Given the description of an element on the screen output the (x, y) to click on. 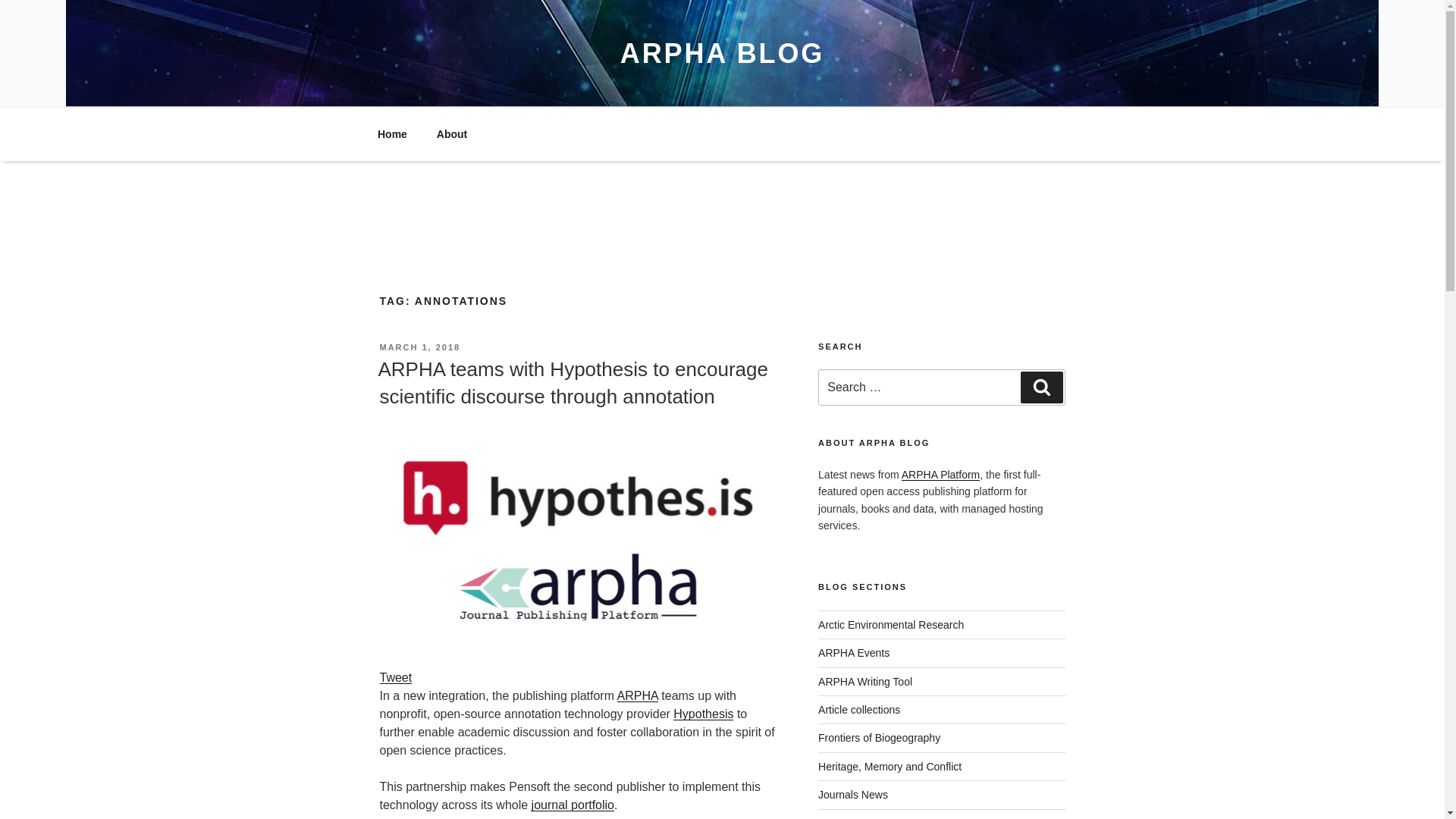
ARPHA Writing Tool (865, 681)
Tweet (395, 676)
New Integrations (858, 818)
Search (1041, 387)
Heritage, Memory and Conflict (889, 766)
ARPHA Events (853, 653)
journal portfolio (572, 804)
Journals News (853, 794)
About (451, 133)
Article collections (858, 709)
